Given the description of an element on the screen output the (x, y) to click on. 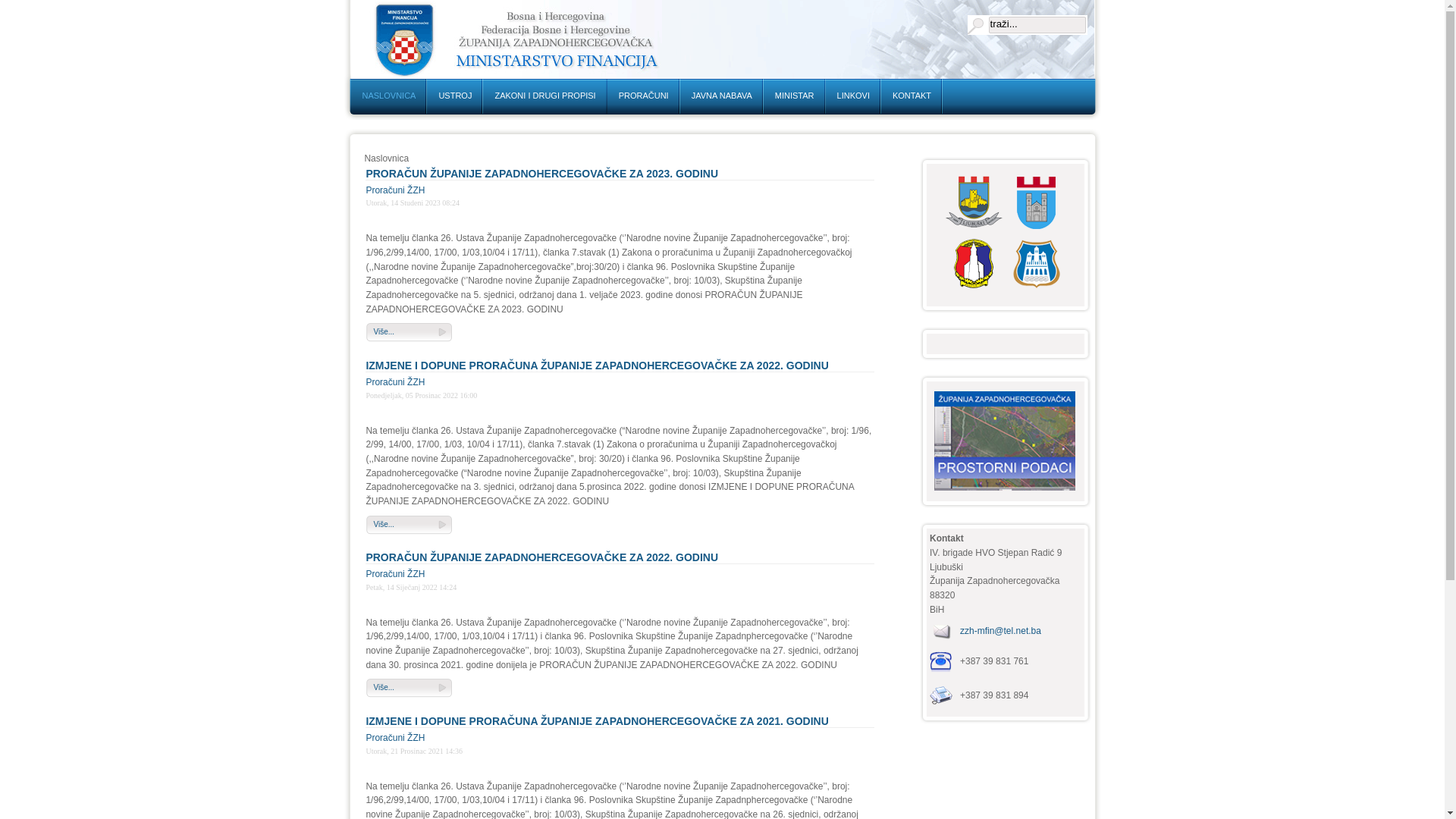
ZAKONI I DRUGI PROPISI Element type: text (544, 95)
MINISTAR Element type: text (794, 95)
LINKOVI Element type: text (853, 95)
USTROJ Element type: text (454, 95)
KONTAKT Element type: text (911, 95)
NASLOVNICA Element type: text (388, 95)
JAVNA NABAVA Element type: text (721, 95)
zzh-mfin@tel.net.ba Element type: text (1000, 629)
